Given the description of an element on the screen output the (x, y) to click on. 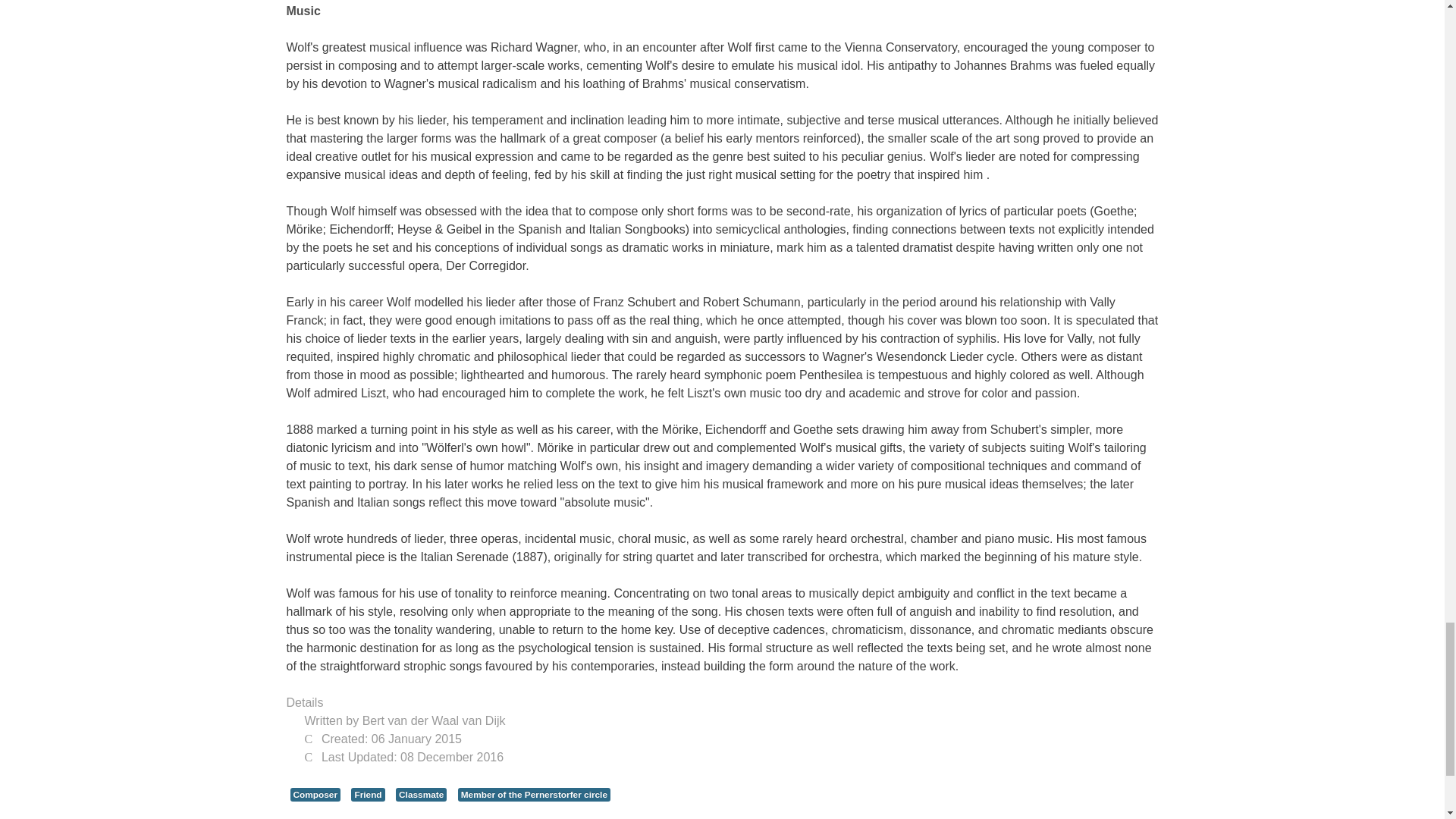
Classmate (421, 794)
Friend (367, 794)
Member of the Pernerstorfer circle (534, 794)
Composer (314, 794)
